Given the description of an element on the screen output the (x, y) to click on. 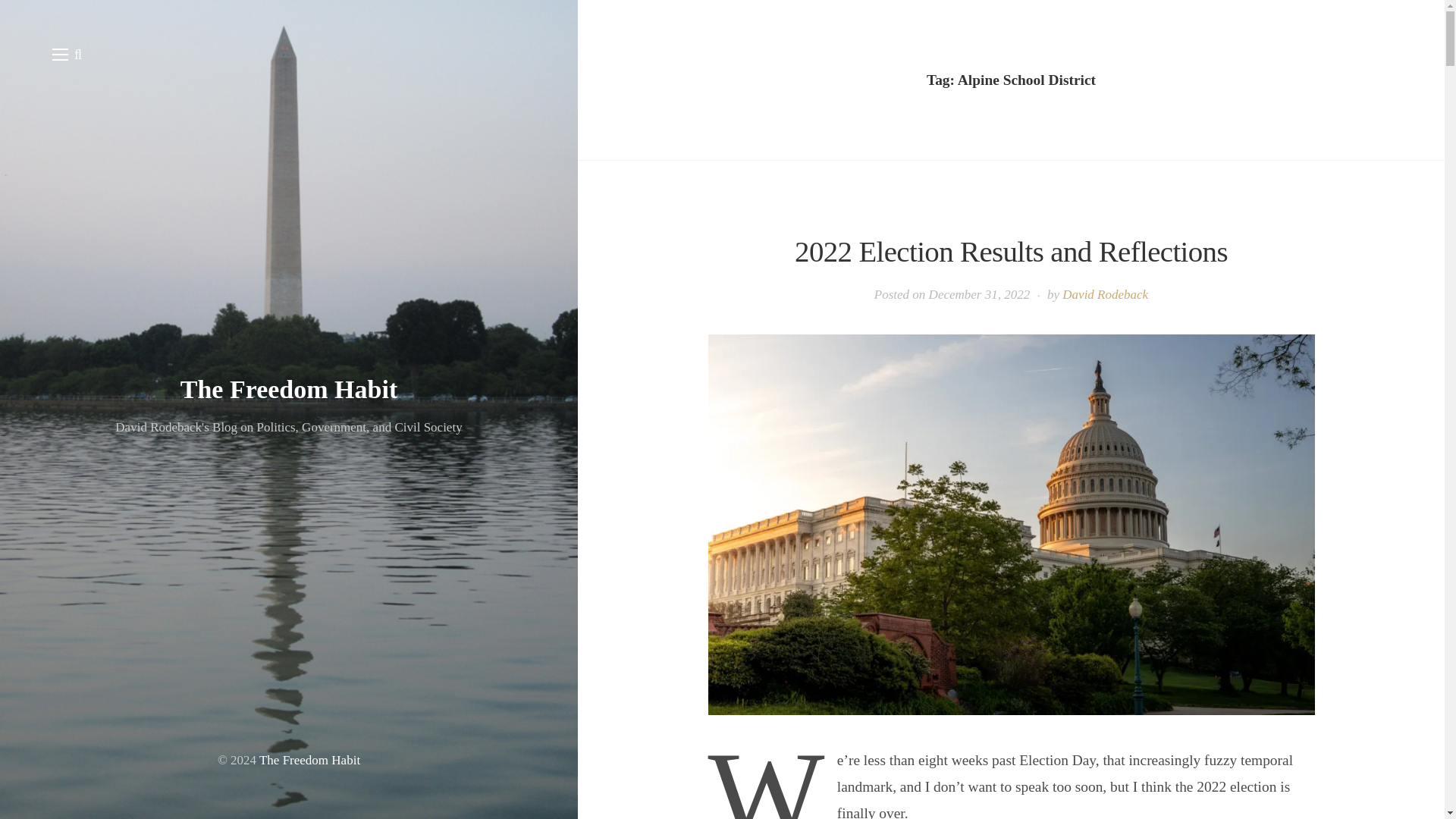
David Rodeback (1105, 294)
The Freedom Habit (309, 759)
The Freedom Habit (288, 389)
2022 Election Results and Reflections (1010, 251)
